Given the description of an element on the screen output the (x, y) to click on. 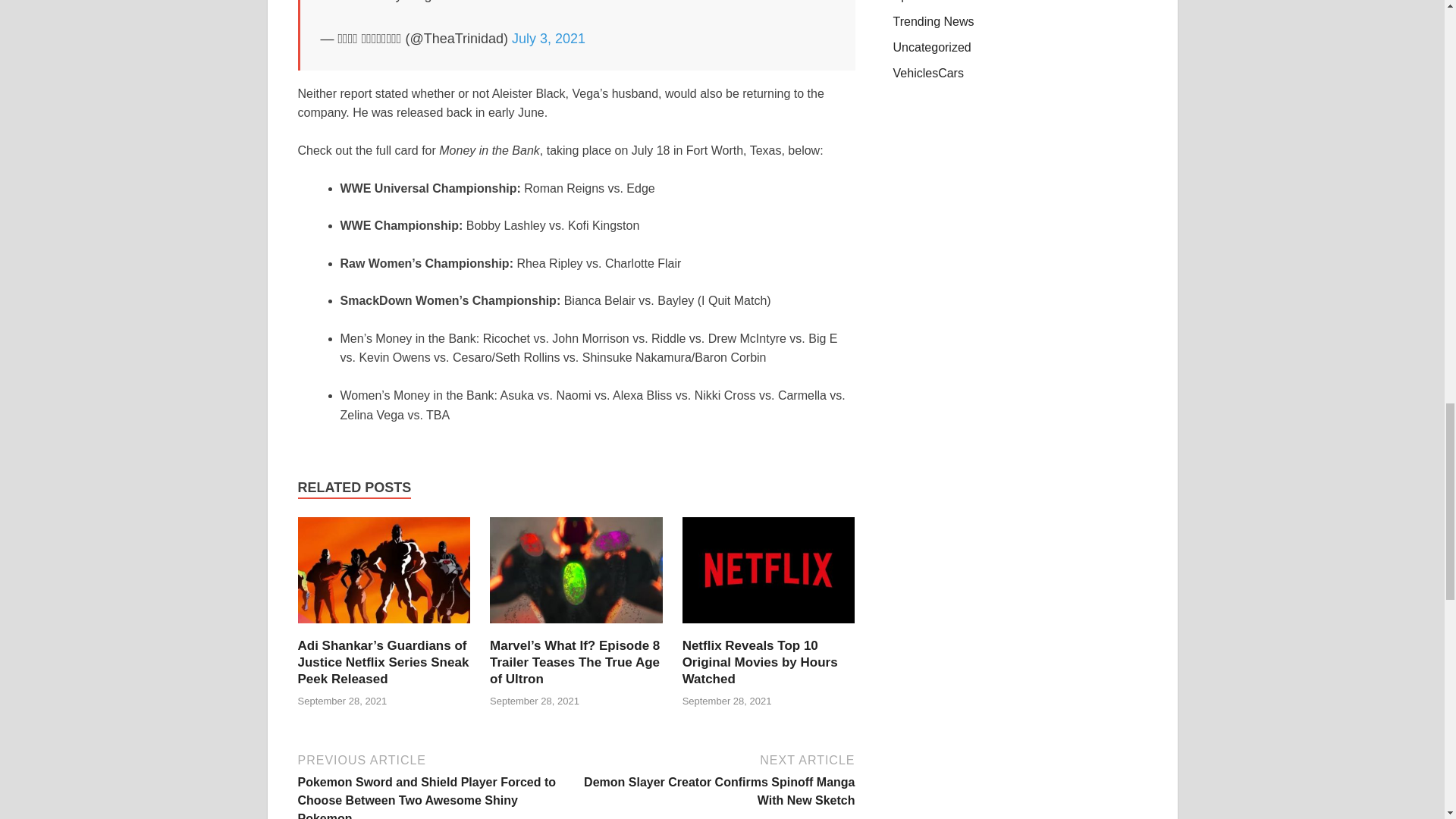
July 3, 2021 (548, 38)
Netflix Reveals Top 10 Original Movies by Hours Watched (760, 662)
Netflix Reveals Top 10 Original Movies by Hours Watched (760, 662)
Netflix Reveals Top 10 Original Movies by Hours Watched (769, 627)
